Given the description of an element on the screen output the (x, y) to click on. 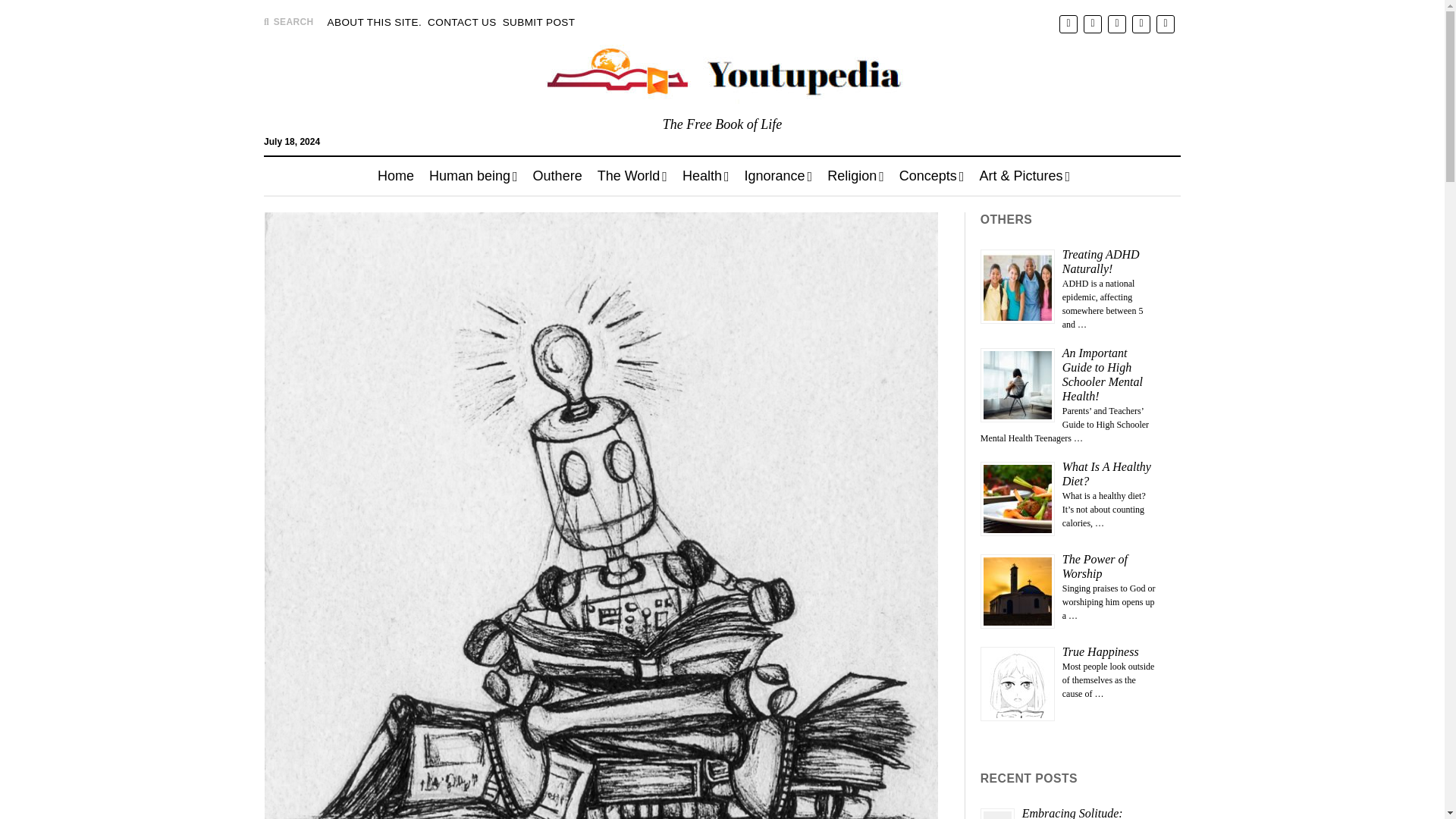
Outhere (557, 176)
Health (705, 176)
Religion (855, 176)
Permalink to What Is A Healthy Diet? (1106, 473)
SEARCH (288, 21)
Permalink to Treating ADHD Naturally! (1101, 261)
Home (395, 176)
The World (632, 176)
Search (943, 141)
Ignorance (778, 176)
CONTACT US (462, 22)
Permalink to The Power of Worship (1094, 565)
SUBMIT POST (538, 22)
ABOUT THIS SITE. (374, 22)
